Given the description of an element on the screen output the (x, y) to click on. 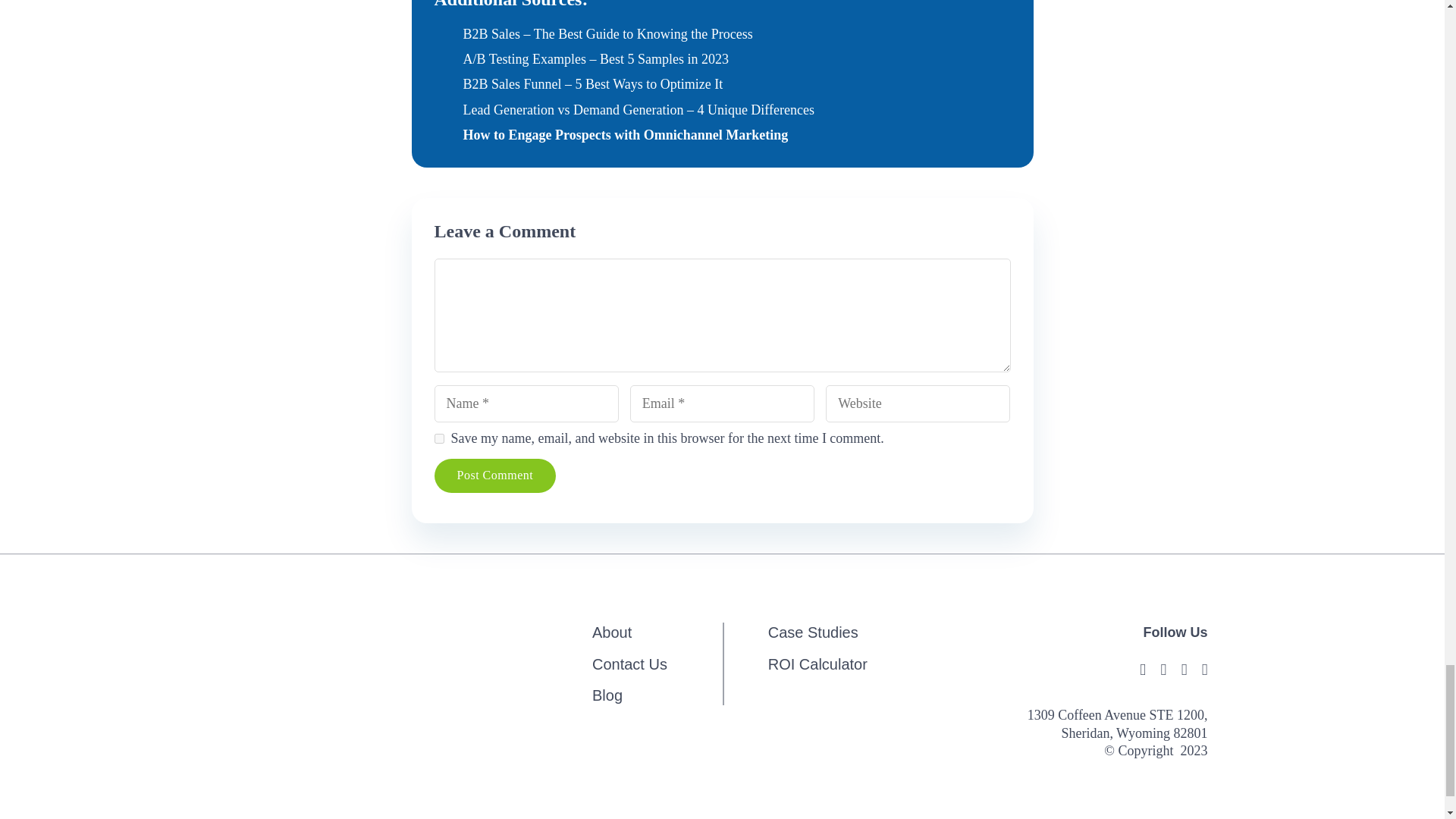
yes (438, 438)
Post Comment (494, 475)
